Given the description of an element on the screen output the (x, y) to click on. 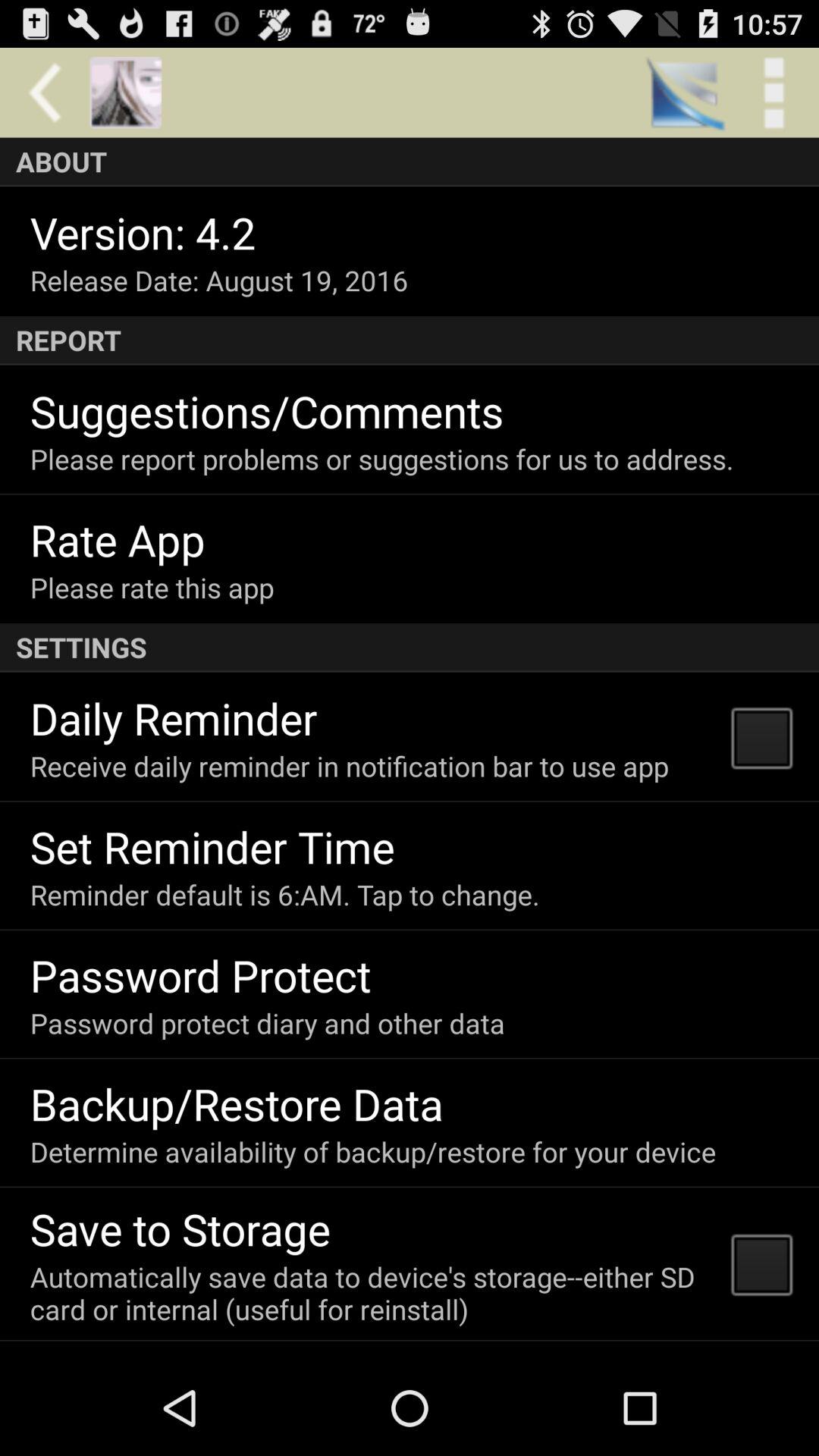
scroll to don t send icon (181, 1356)
